Given the description of an element on the screen output the (x, y) to click on. 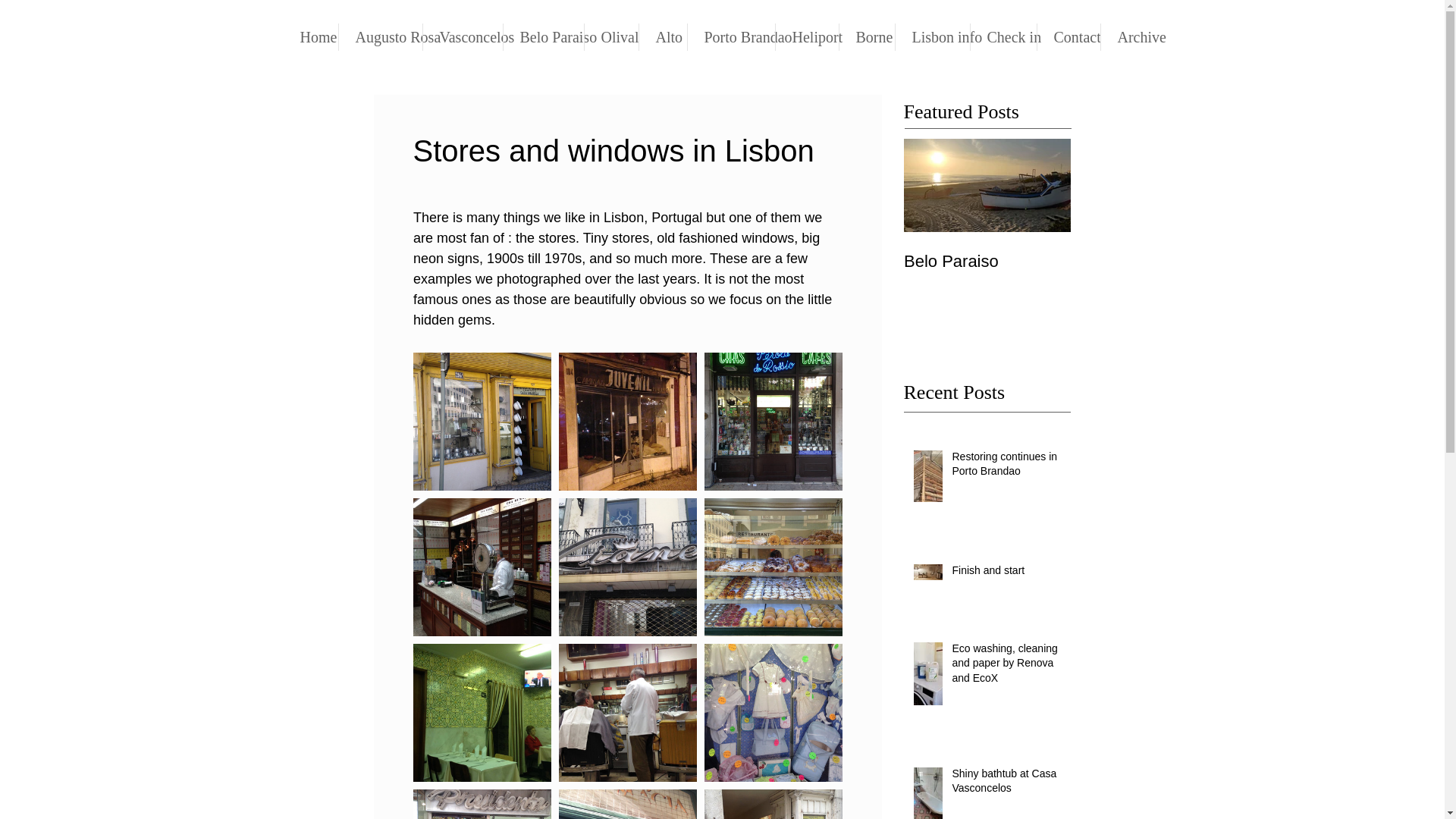
Check in (1003, 36)
Porto Brandao (987, 245)
Contact (730, 36)
Olival (1068, 36)
Borne (610, 36)
Lisbon info (865, 36)
Fado in your Alfama home (932, 36)
Home (1153, 271)
Restoring continues in Porto Brandao (310, 36)
Belo Paraiso (1006, 467)
Alto (543, 36)
Heliport (987, 245)
Belo Paraiso (662, 36)
